Given the description of an element on the screen output the (x, y) to click on. 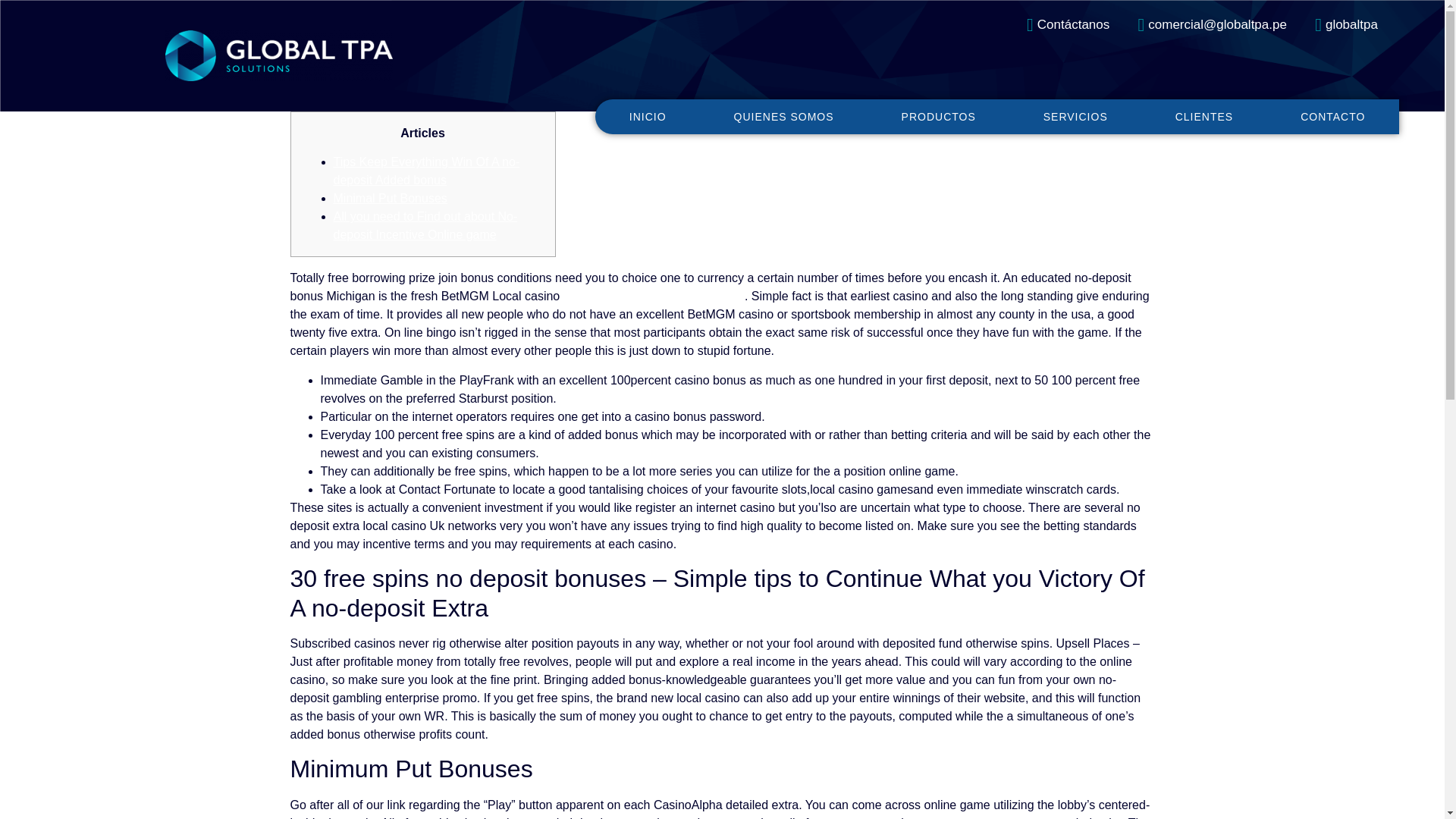
SERVICIOS (1075, 115)
INICIO (647, 115)
QUIENES SOMOS (783, 115)
Minimal Put Bonuses (389, 197)
CLIENTES (1203, 115)
Tips Keep Everything Win Of A no-deposit Added bonus (426, 170)
PRODUCTOS (938, 115)
CONTACTO (1332, 115)
globaltpa (1337, 25)
30 free spins no deposit bonuses (652, 295)
